Given the description of an element on the screen output the (x, y) to click on. 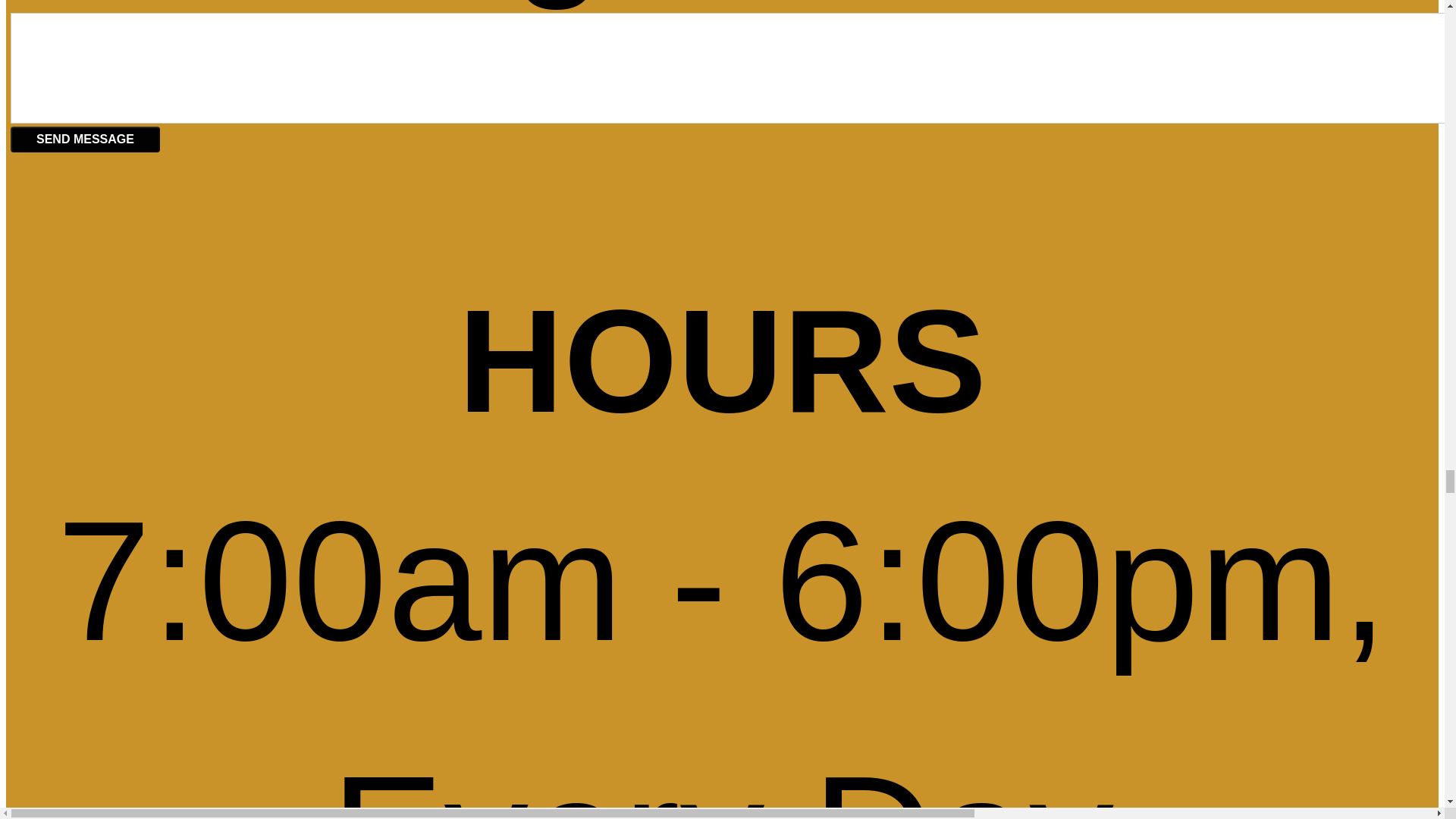
SEND MESSAGE (85, 139)
